Given the description of an element on the screen output the (x, y) to click on. 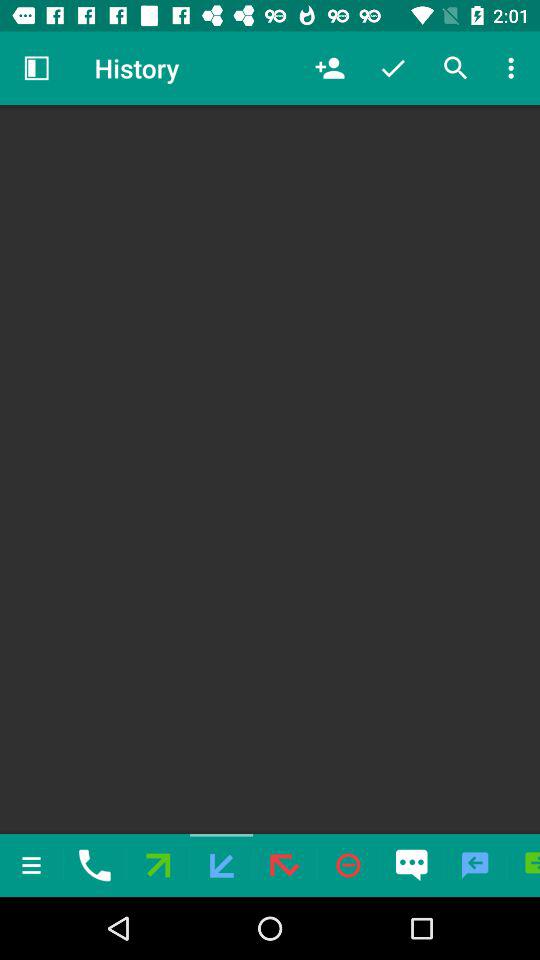
launch the icon to the left of history item (36, 68)
